Given the description of an element on the screen output the (x, y) to click on. 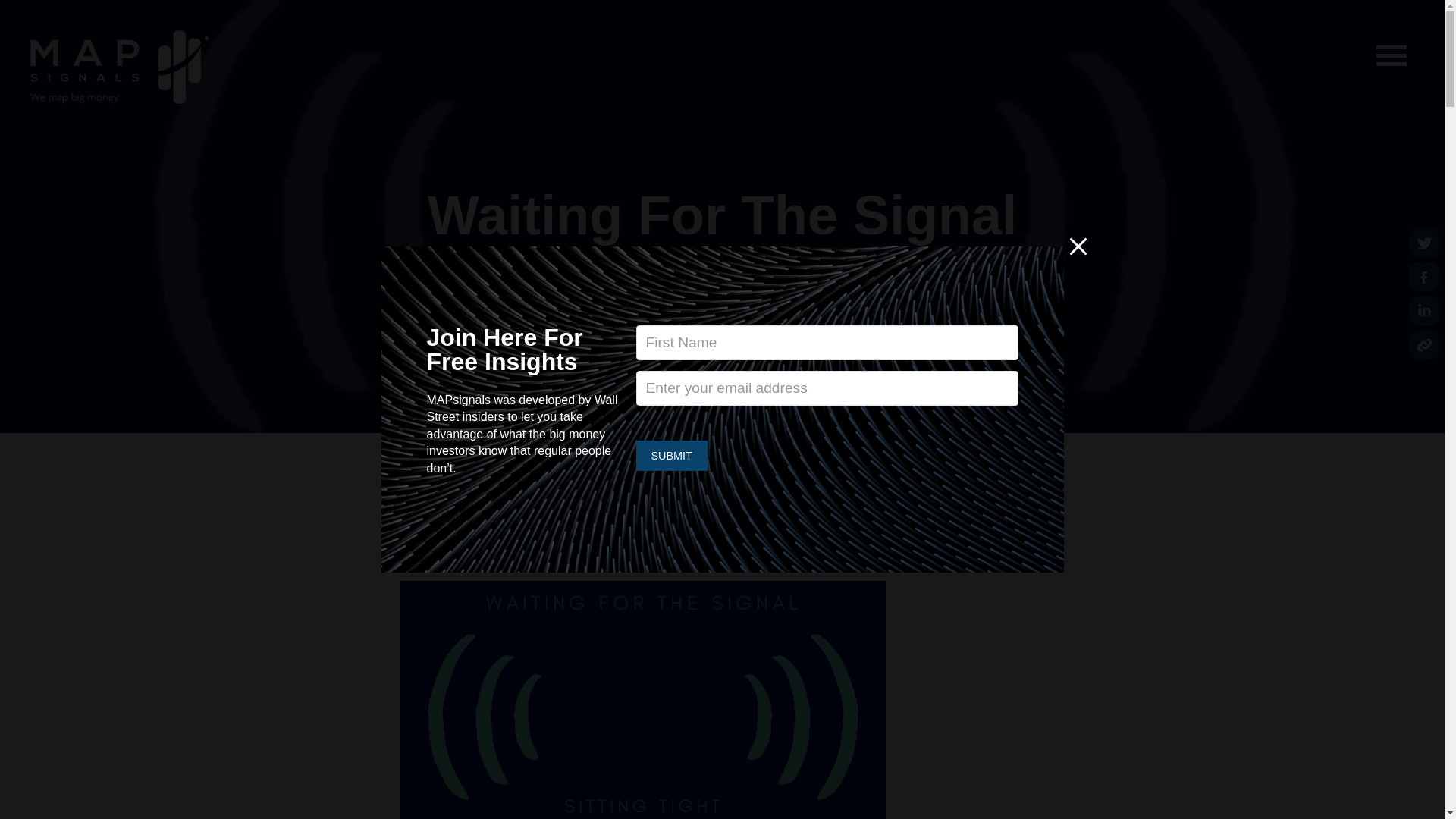
Lucas Downey (678, 286)
Find us on LinkedIn (1424, 310)
Like us on Facebook (1424, 276)
Big Money Insights Weekly (823, 286)
All (737, 286)
Follow us on Twitter (1424, 242)
Lucas Downey (678, 286)
Copy Link (1424, 345)
All (737, 286)
Big Money Insights Weekly (823, 286)
